Given the description of an element on the screen output the (x, y) to click on. 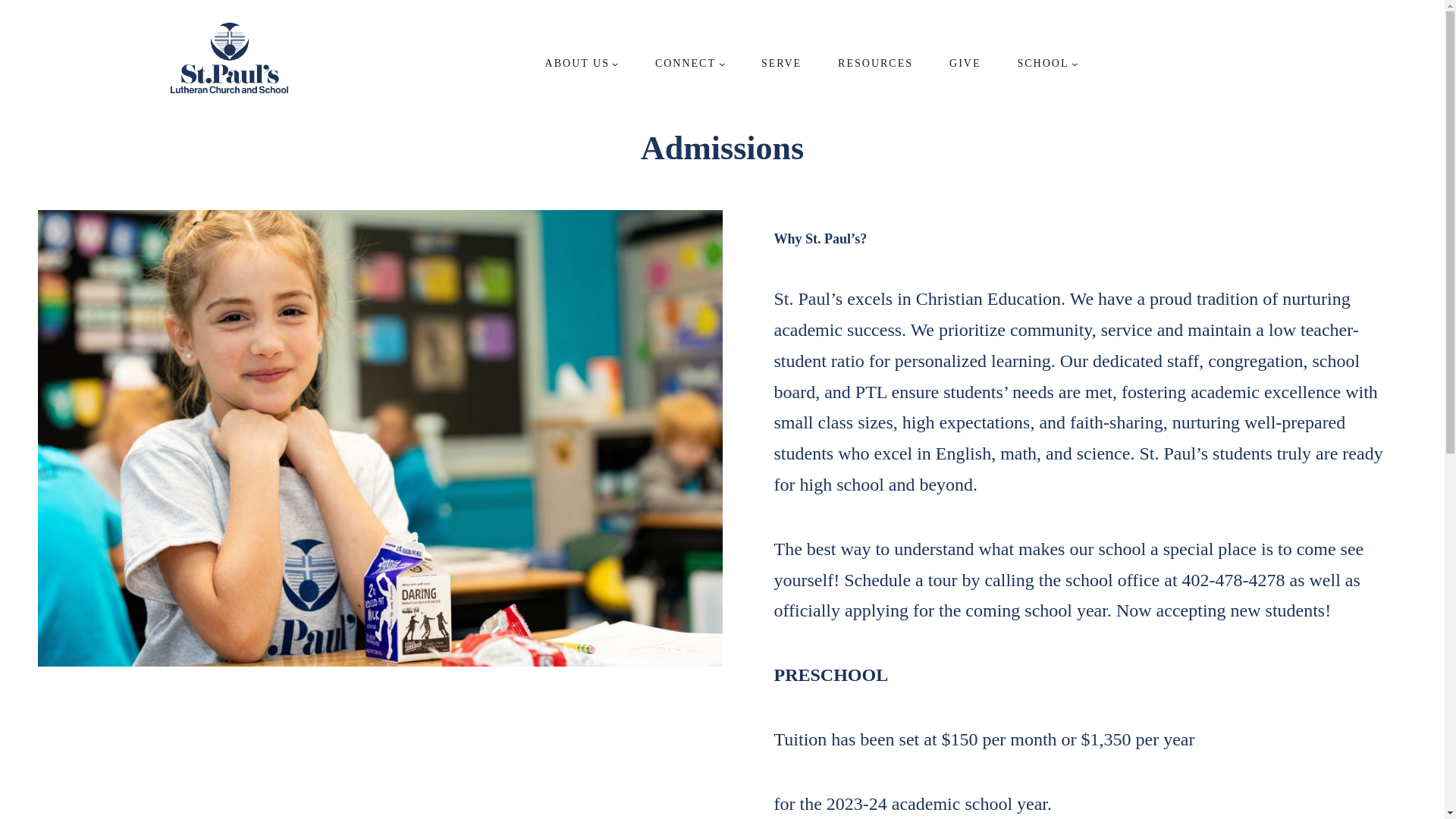
ABOUT US (577, 63)
GIVE (964, 63)
CONNECT (685, 63)
RESOURCES (875, 63)
SERVE (781, 63)
SCHOOL (1042, 63)
